Given the description of an element on the screen output the (x, y) to click on. 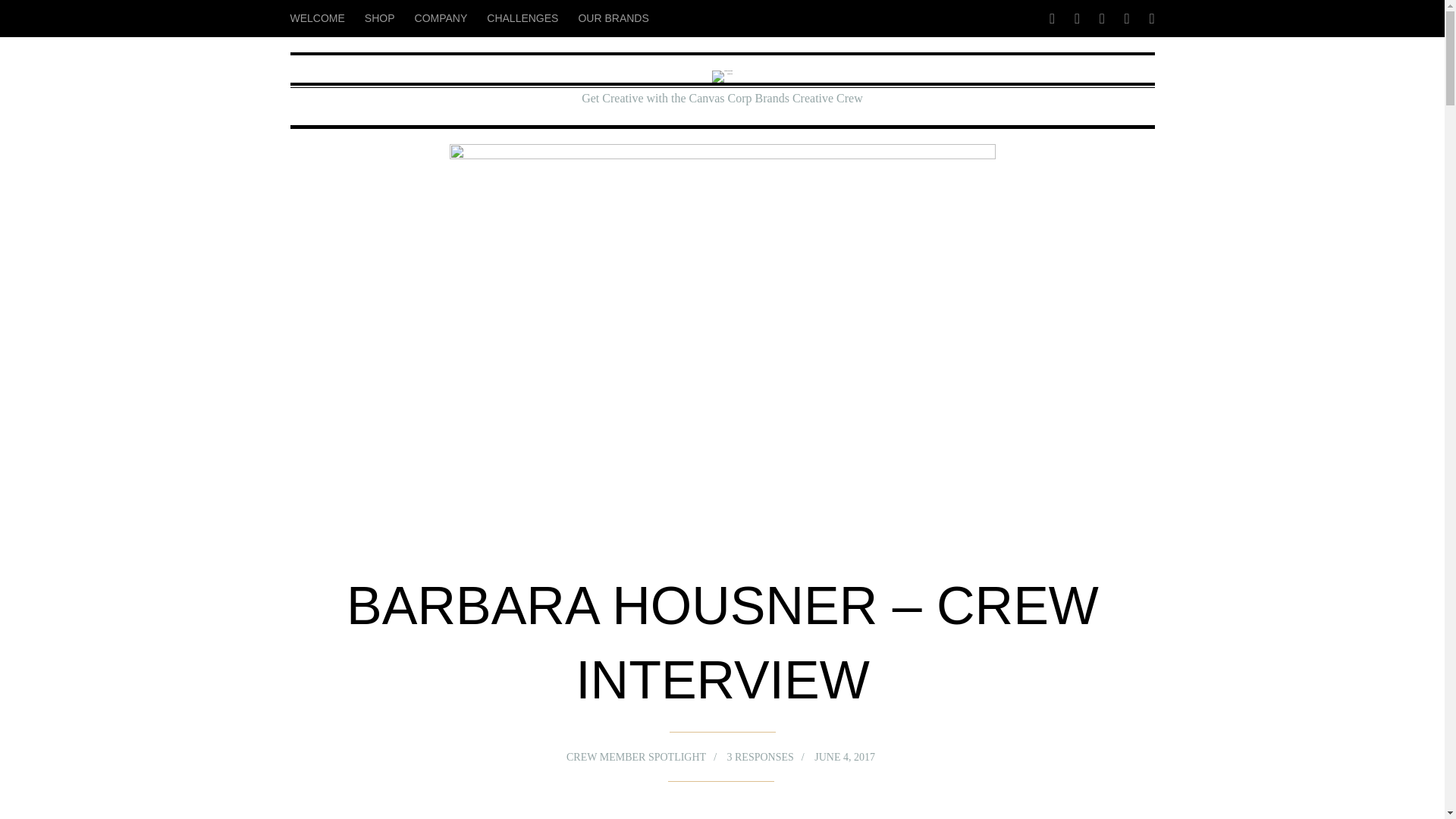
JUNE 4, 2017 (837, 751)
OUR BRANDS (613, 14)
WELCOME (321, 11)
3 RESPONSES (759, 754)
COMPANY (441, 13)
SHOP (379, 12)
CREW MEMBER SPOTLIGHT (633, 756)
CHALLENGES (522, 13)
